Given the description of an element on the screen output the (x, y) to click on. 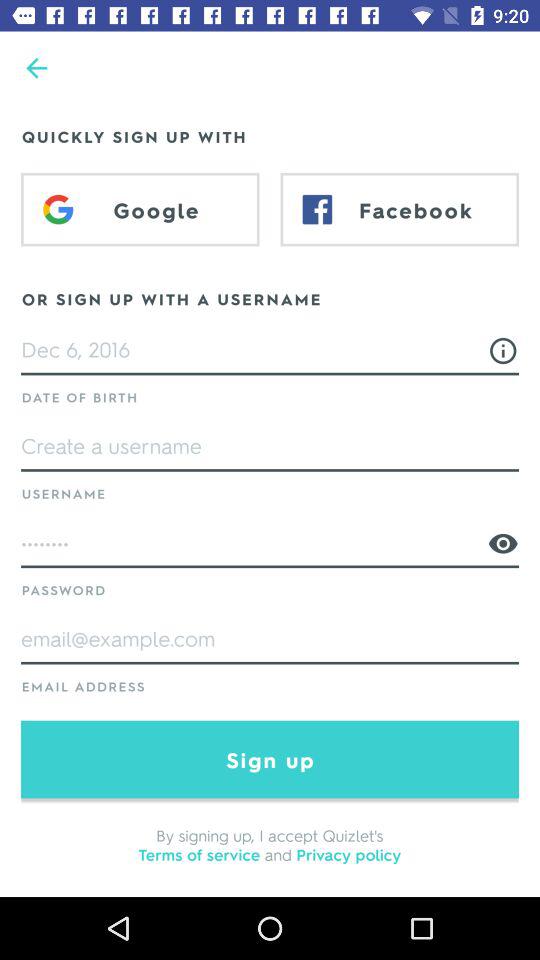
choose the icon below the quickly sign up (140, 209)
